Given the description of an element on the screen output the (x, y) to click on. 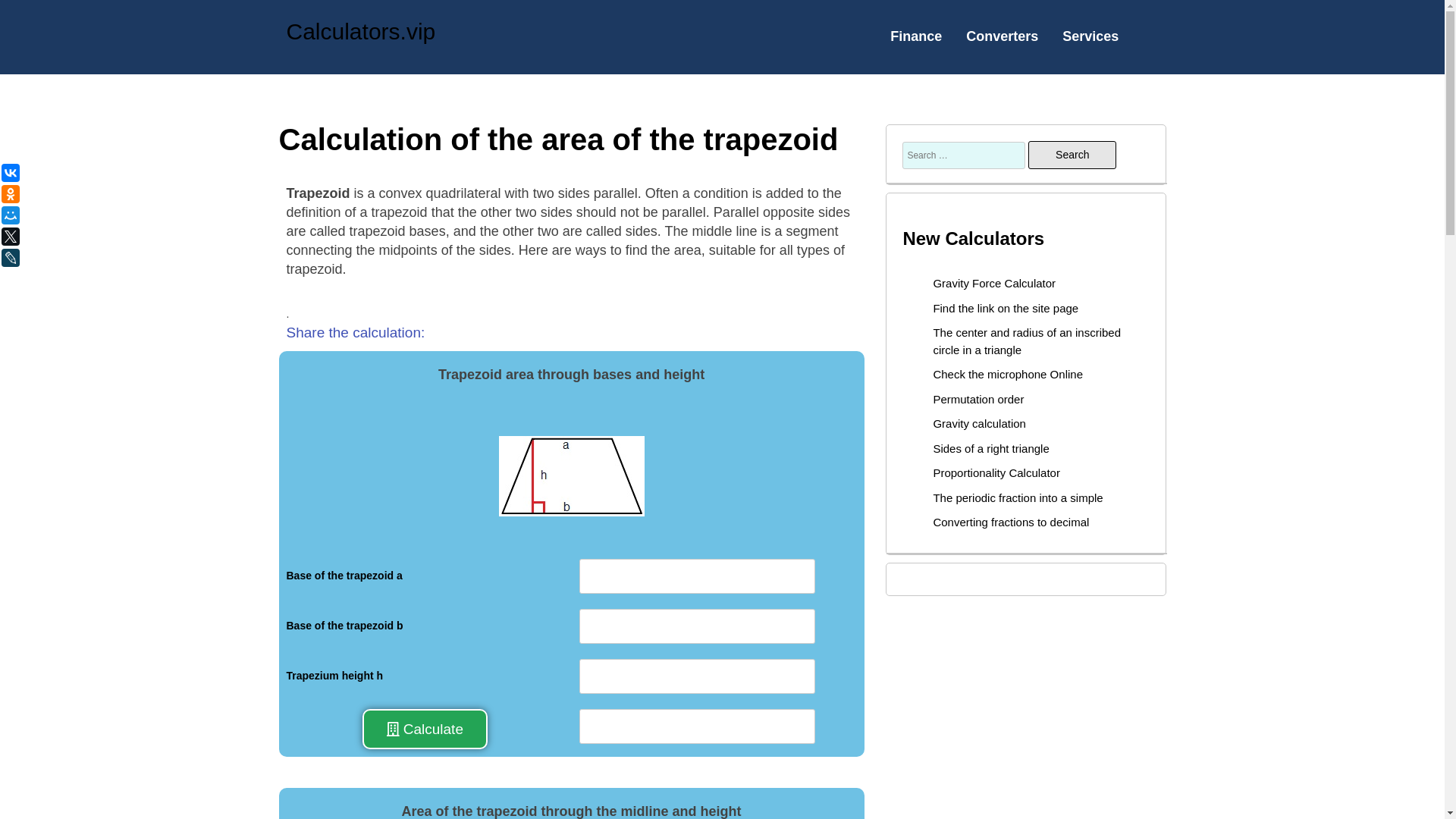
Gravity Force Calculator (994, 282)
Proportionality Calculator (996, 472)
The periodic fraction into a simple (1017, 497)
Converters (1002, 36)
Calculators.vip (360, 31)
Calculate (424, 728)
Sides of a right triangle (990, 448)
The center and radius of an inscribed circle in a triangle (1027, 340)
Services (1090, 36)
Share the calculation: (355, 332)
Finance (915, 36)
Permutation order (978, 399)
Find the link on the site page (1005, 308)
LiveJournal (49, 257)
Check the microphone Online (1008, 373)
